Given the description of an element on the screen output the (x, y) to click on. 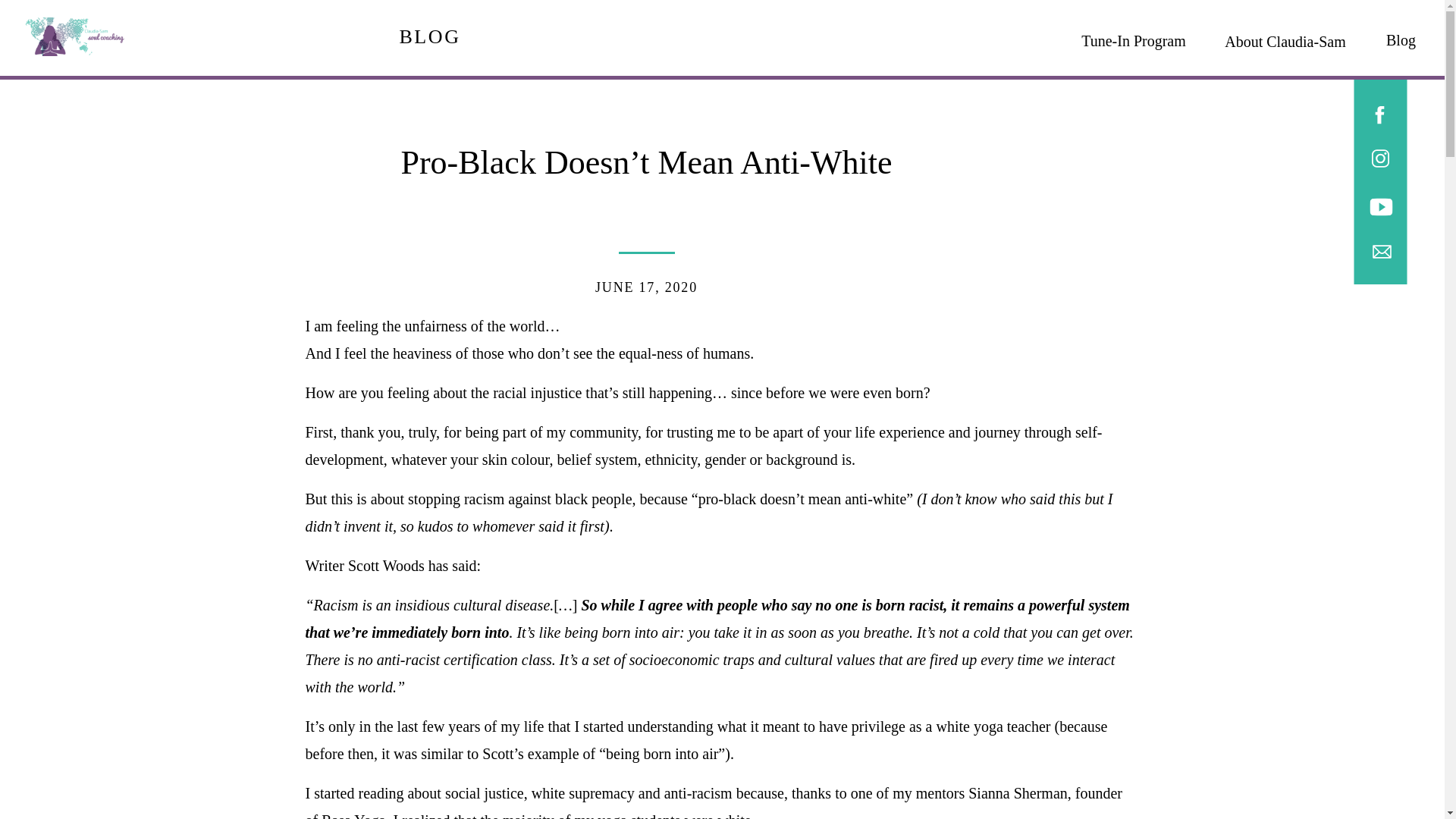
About Claudia-Sam (1285, 37)
Tune-In Program (1133, 36)
Blog (1400, 35)
